Given the description of an element on the screen output the (x, y) to click on. 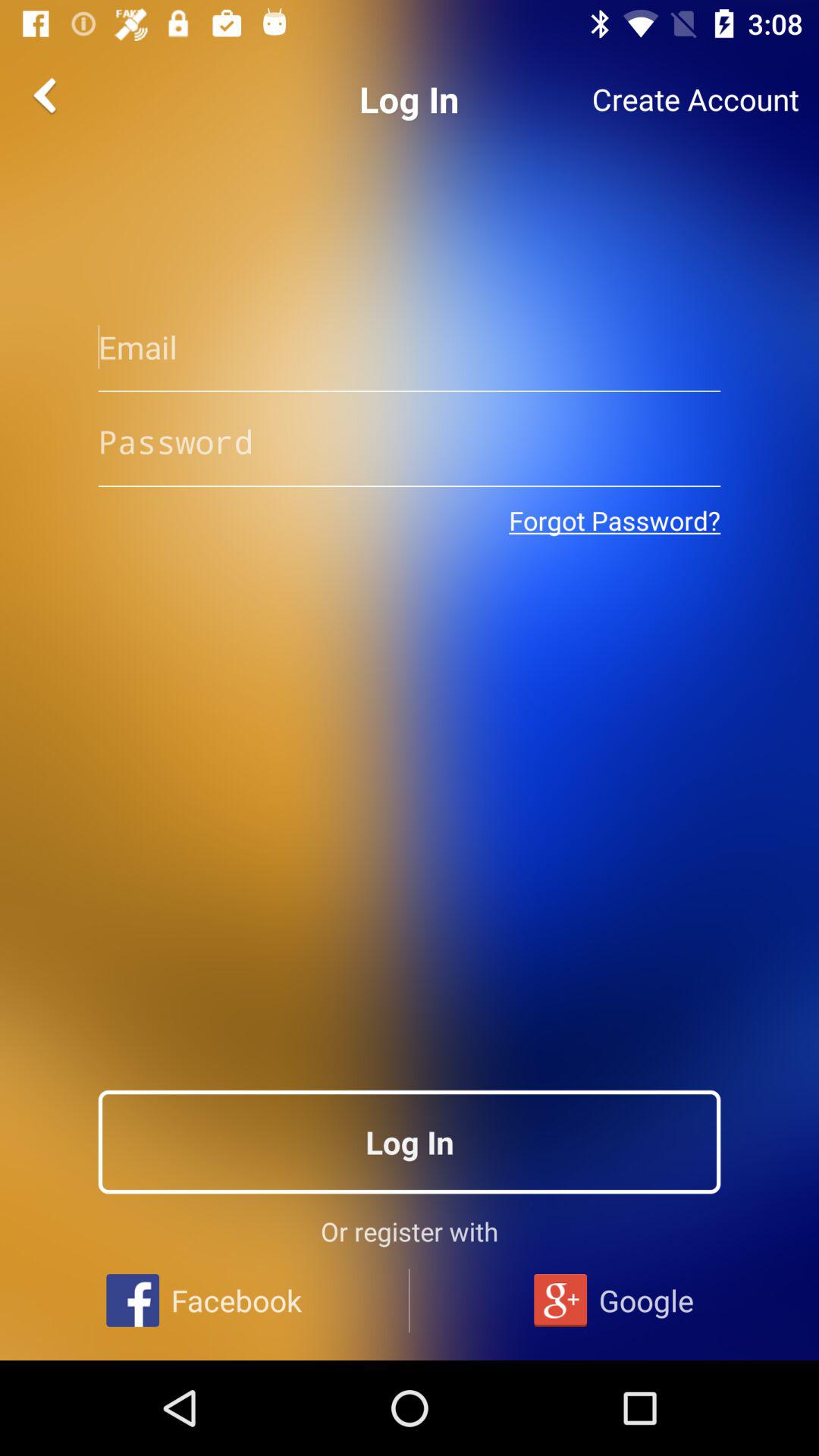
input email address (409, 347)
